Given the description of an element on the screen output the (x, y) to click on. 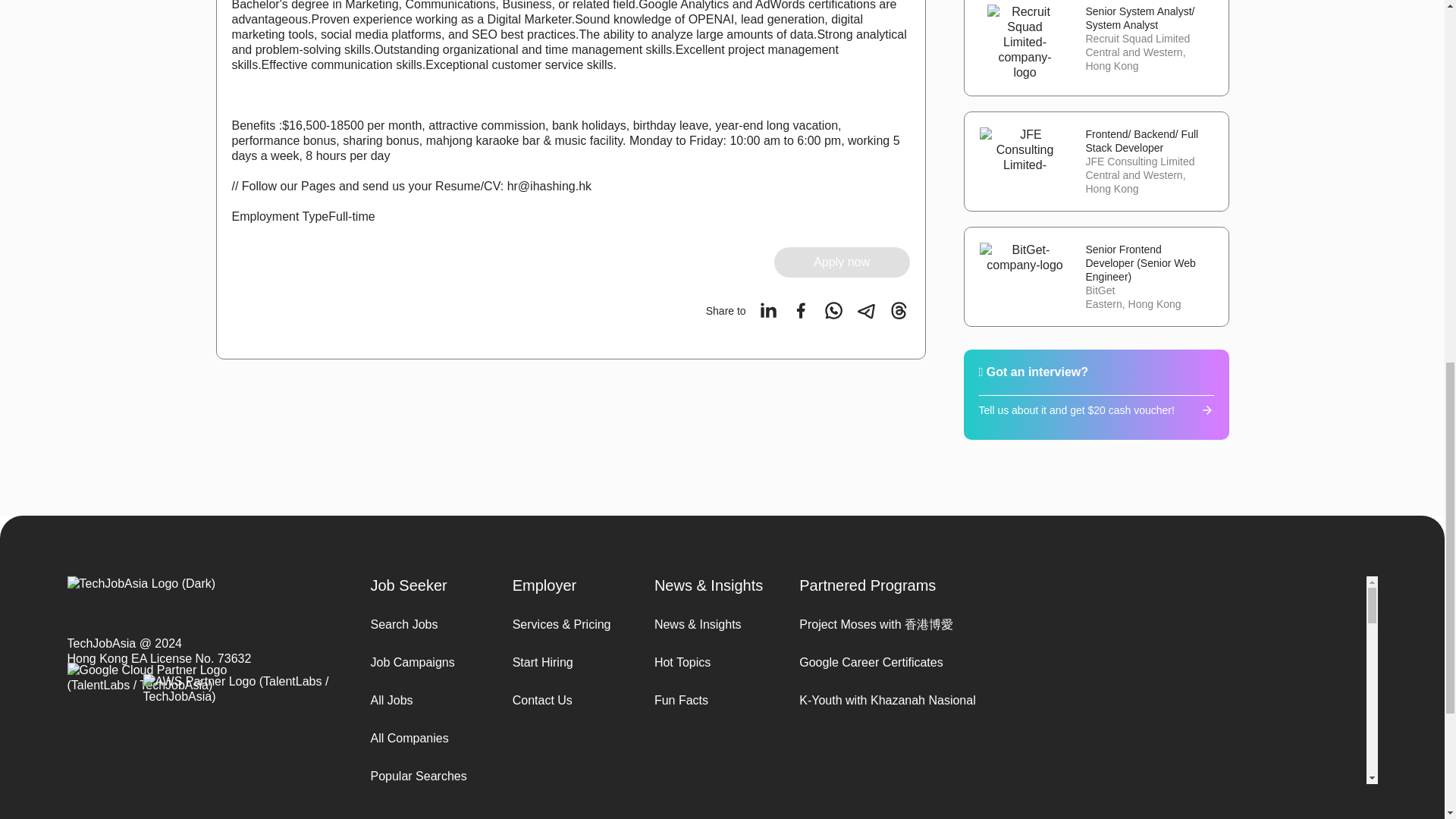
All Jobs (422, 700)
All Companies (422, 738)
Contact Us (564, 700)
Popular Searches (422, 776)
Start Hiring (564, 662)
Apply now (842, 262)
Job Campaigns (422, 662)
Search Jobs (422, 624)
